Given the description of an element on the screen output the (x, y) to click on. 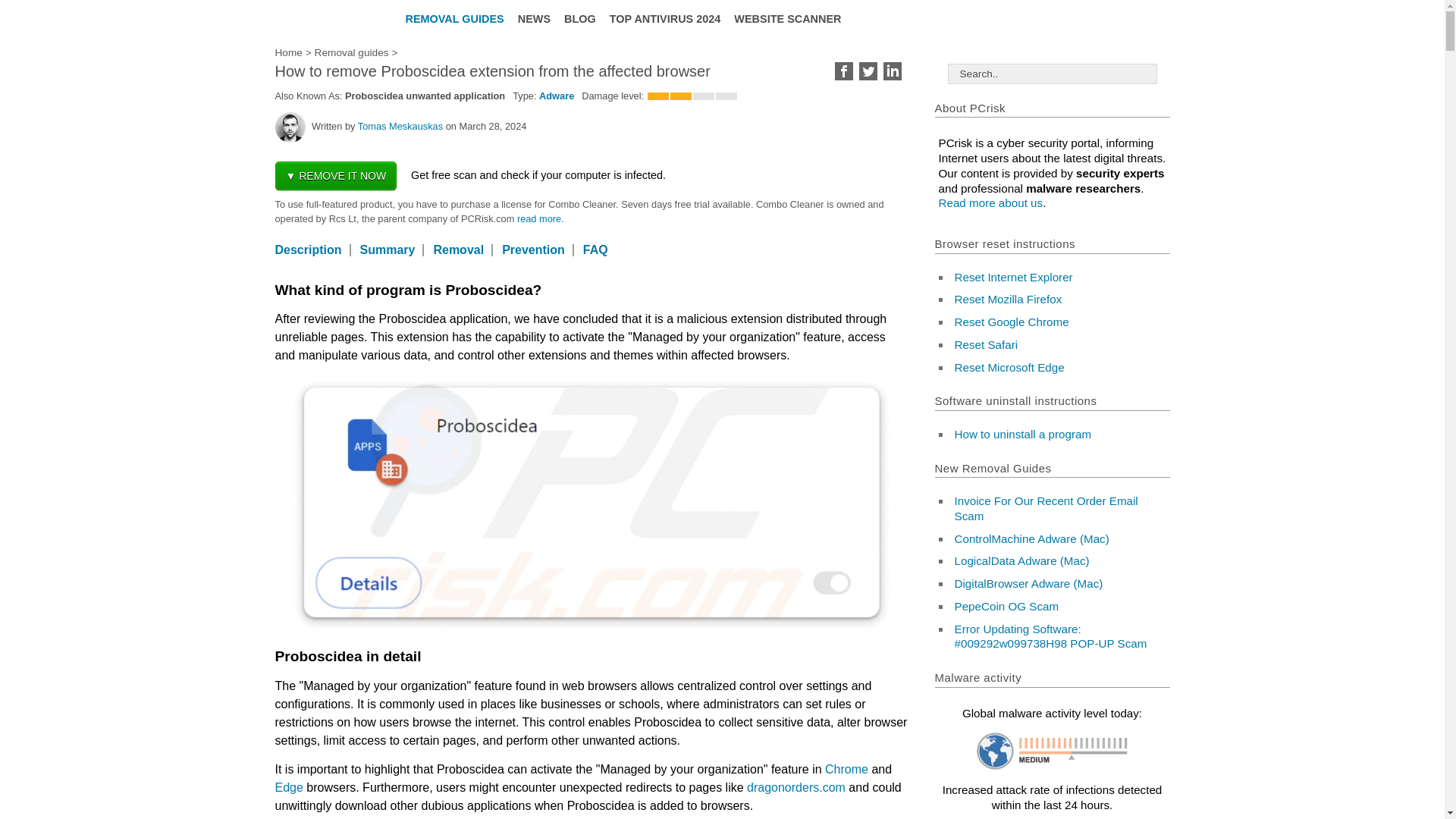
Facebook (842, 71)
Prevention (533, 249)
WEBSITE SCANNER (785, 18)
Twitter (867, 71)
FAQ (595, 249)
Removal (458, 249)
LinkedIn (891, 71)
Tomas Meskauskas (400, 125)
Removal guides (351, 52)
Read more about us (538, 218)
Home (288, 52)
NEWS (533, 18)
Description (307, 249)
Search.. (1052, 73)
Chrome (846, 768)
